Given the description of an element on the screen output the (x, y) to click on. 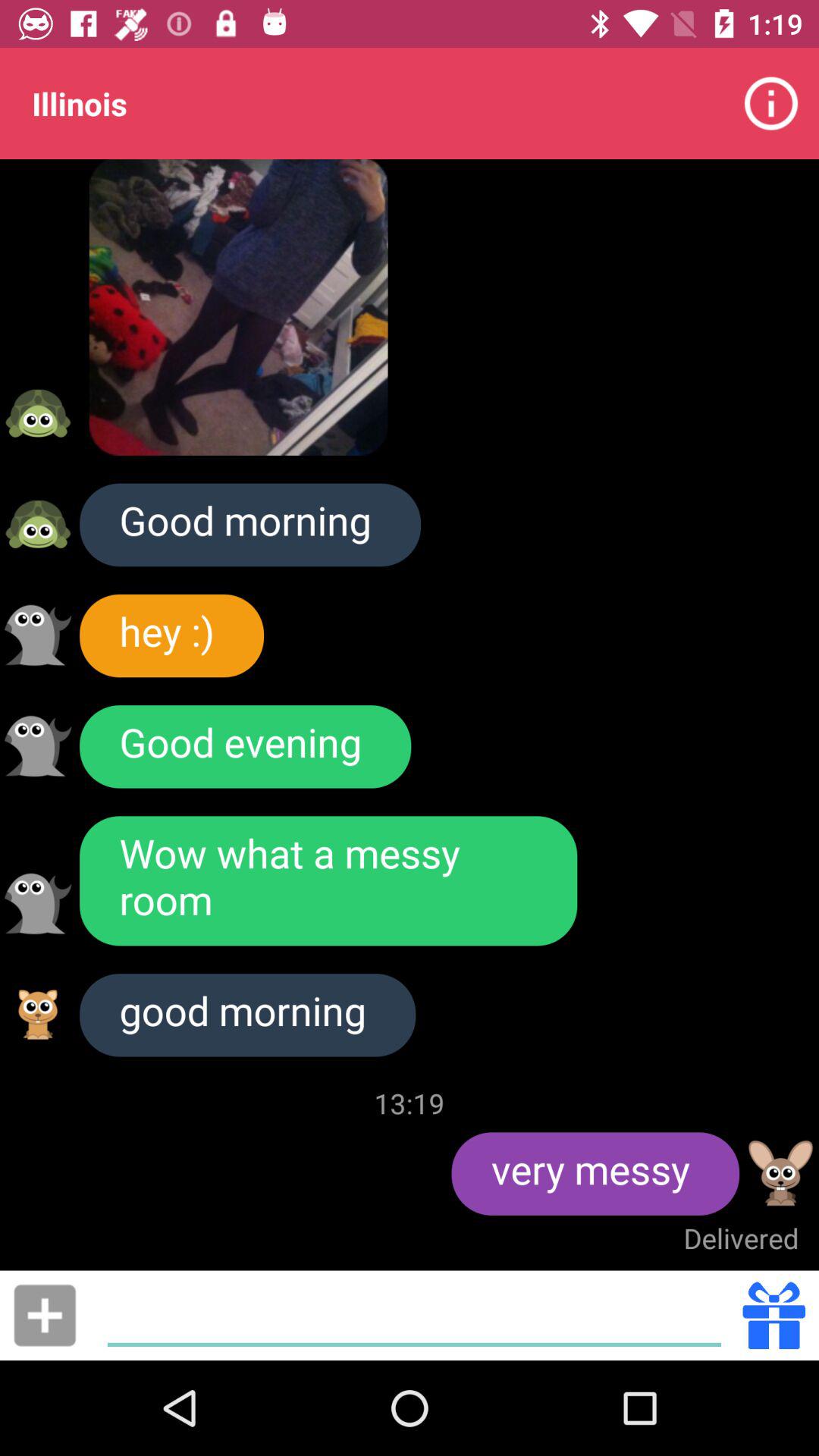
make new message maybe (44, 1315)
